Given the description of an element on the screen output the (x, y) to click on. 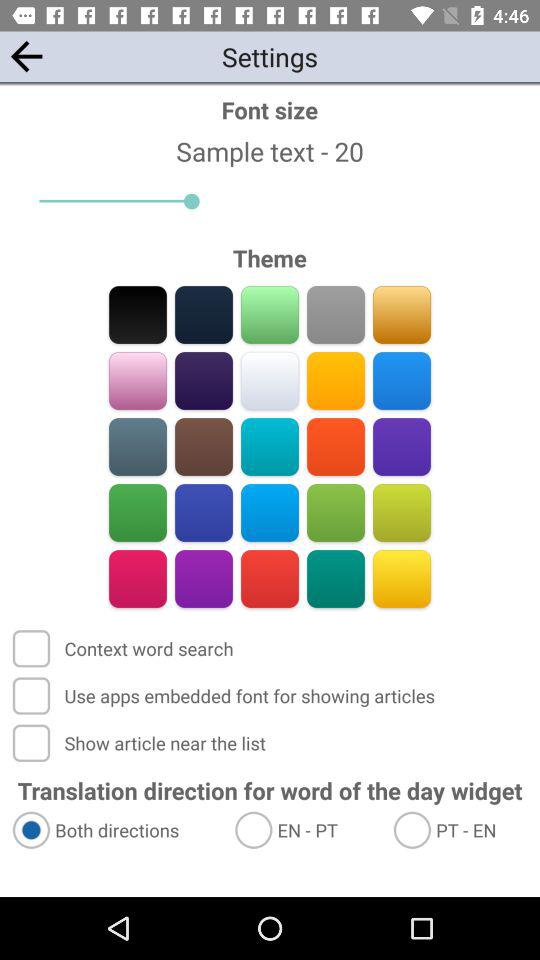
change theme option (203, 380)
